Given the description of an element on the screen output the (x, y) to click on. 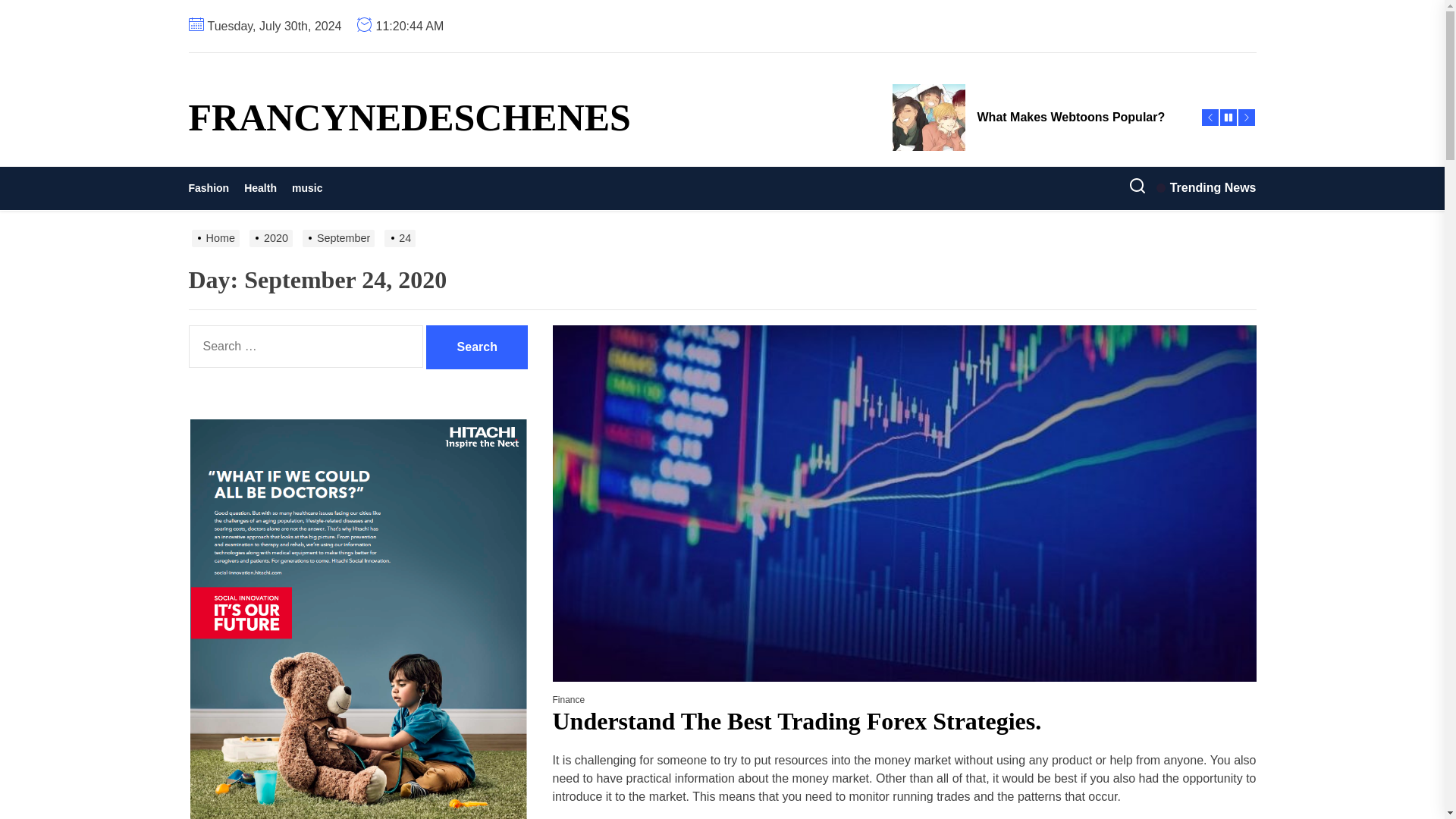
FRANCYNEDESCHENES (408, 117)
Health (259, 188)
What Makes Webtoons Popular? (1036, 117)
music (306, 188)
Trending News (1206, 188)
Fashion (211, 188)
What Makes Webtoons Popular? (1036, 117)
Search (476, 347)
Search (476, 347)
